Given the description of an element on the screen output the (x, y) to click on. 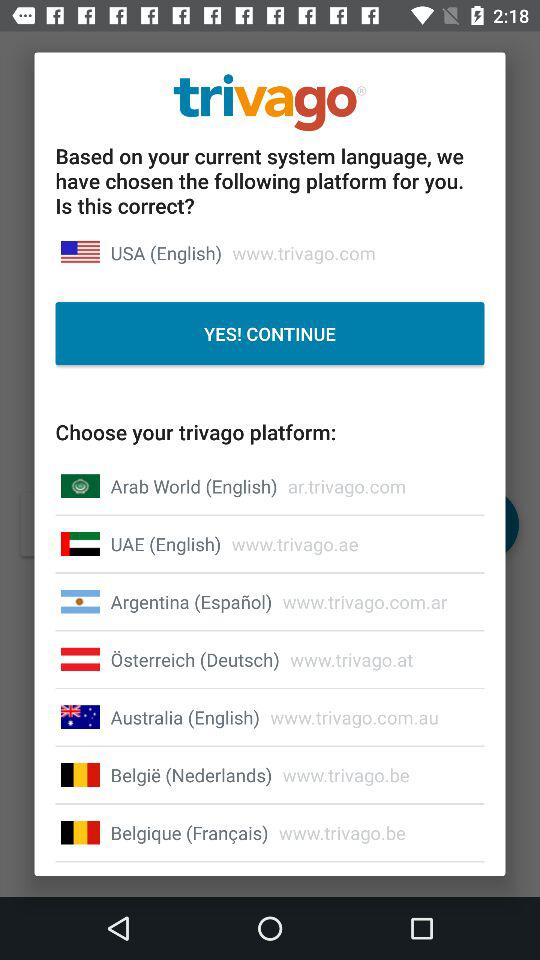
jump until the arab world (english) item (193, 486)
